Given the description of an element on the screen output the (x, y) to click on. 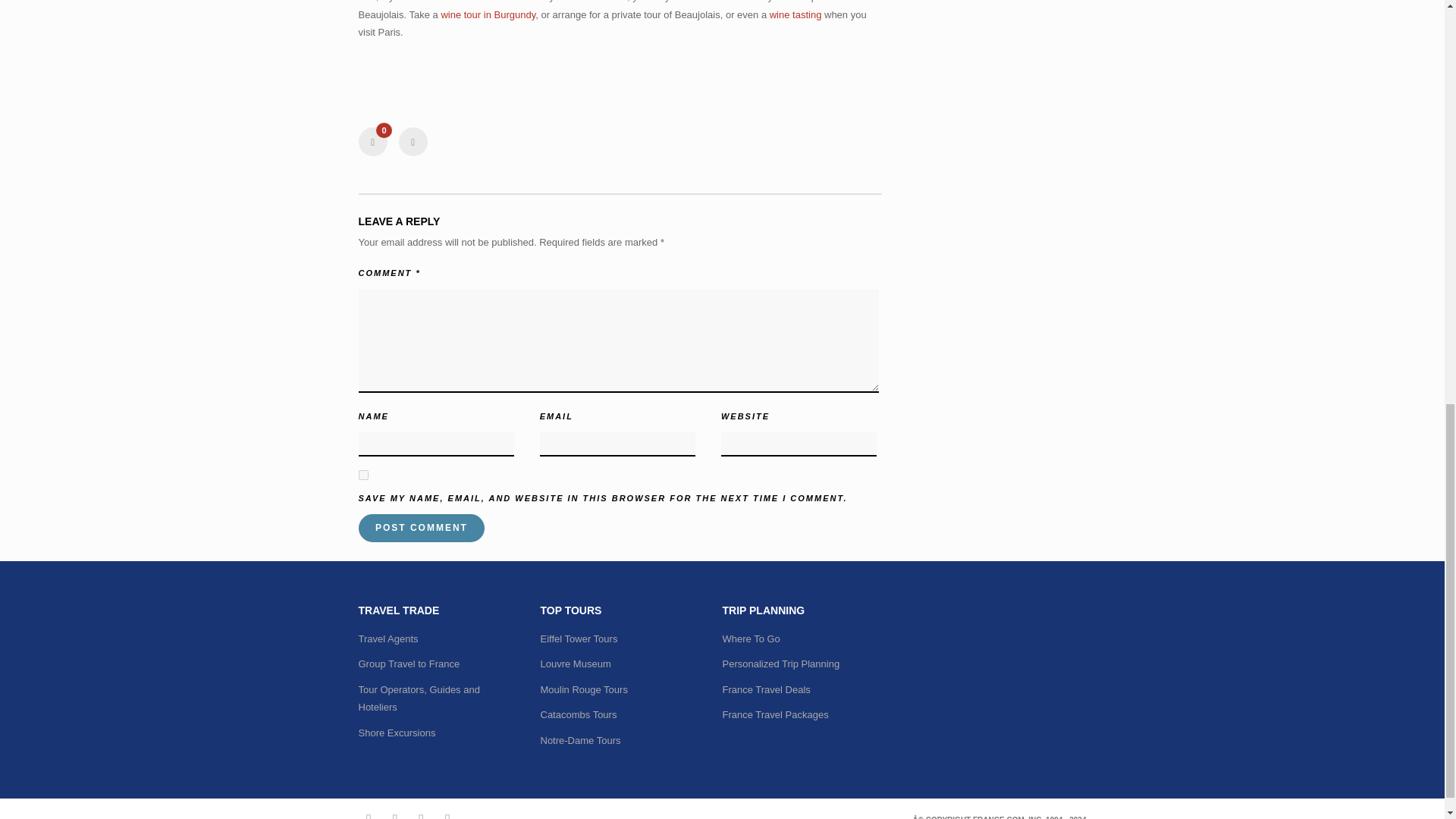
yes (363, 474)
Check out our France travel Packages for your next vacation (775, 714)
Post Comment (421, 528)
Youtube (418, 811)
Pinterest (443, 811)
